Given the description of an element on the screen output the (x, y) to click on. 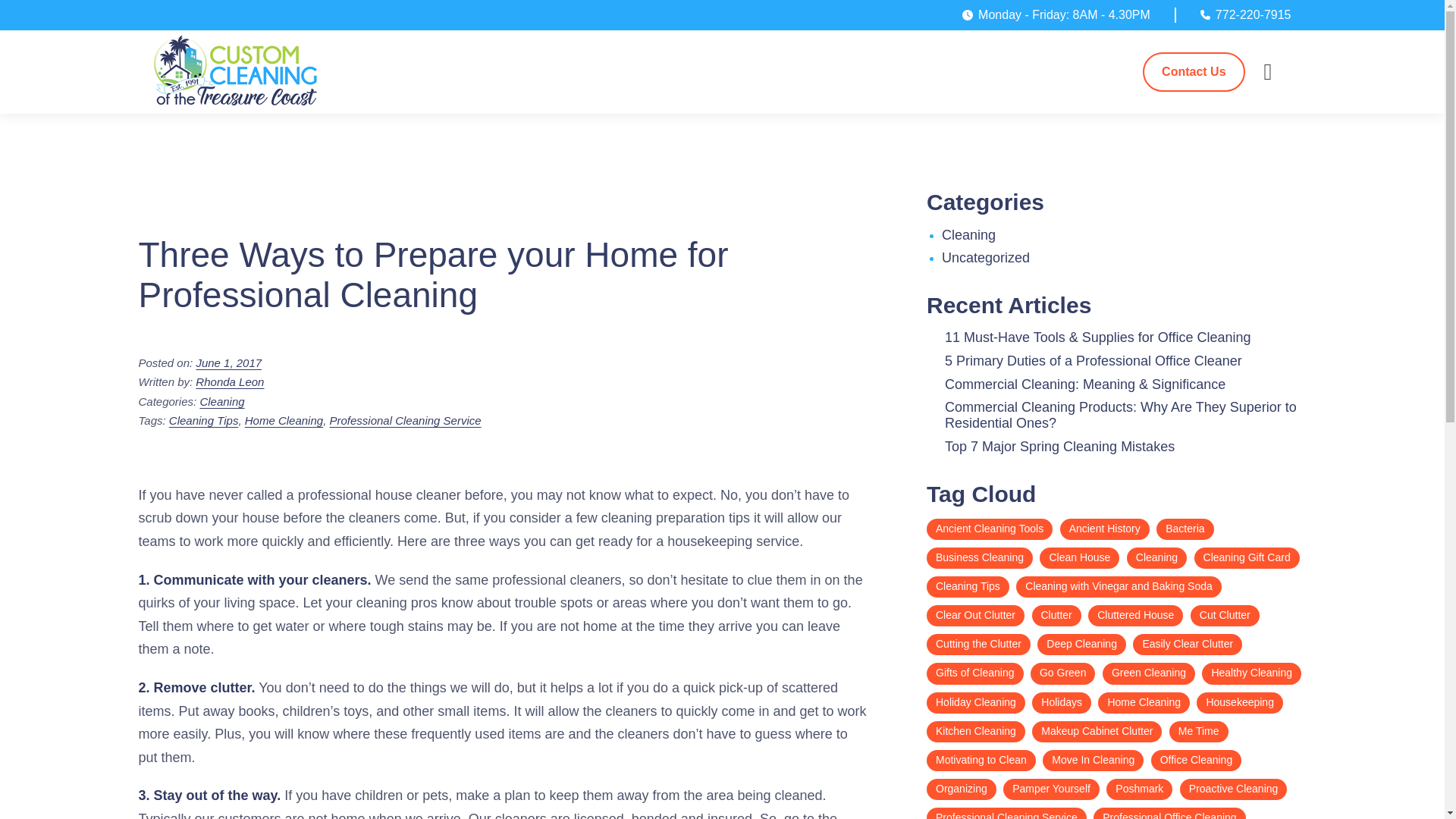
772-220-7915 (1245, 15)
Contact Us (1193, 71)
